Given the description of an element on the screen output the (x, y) to click on. 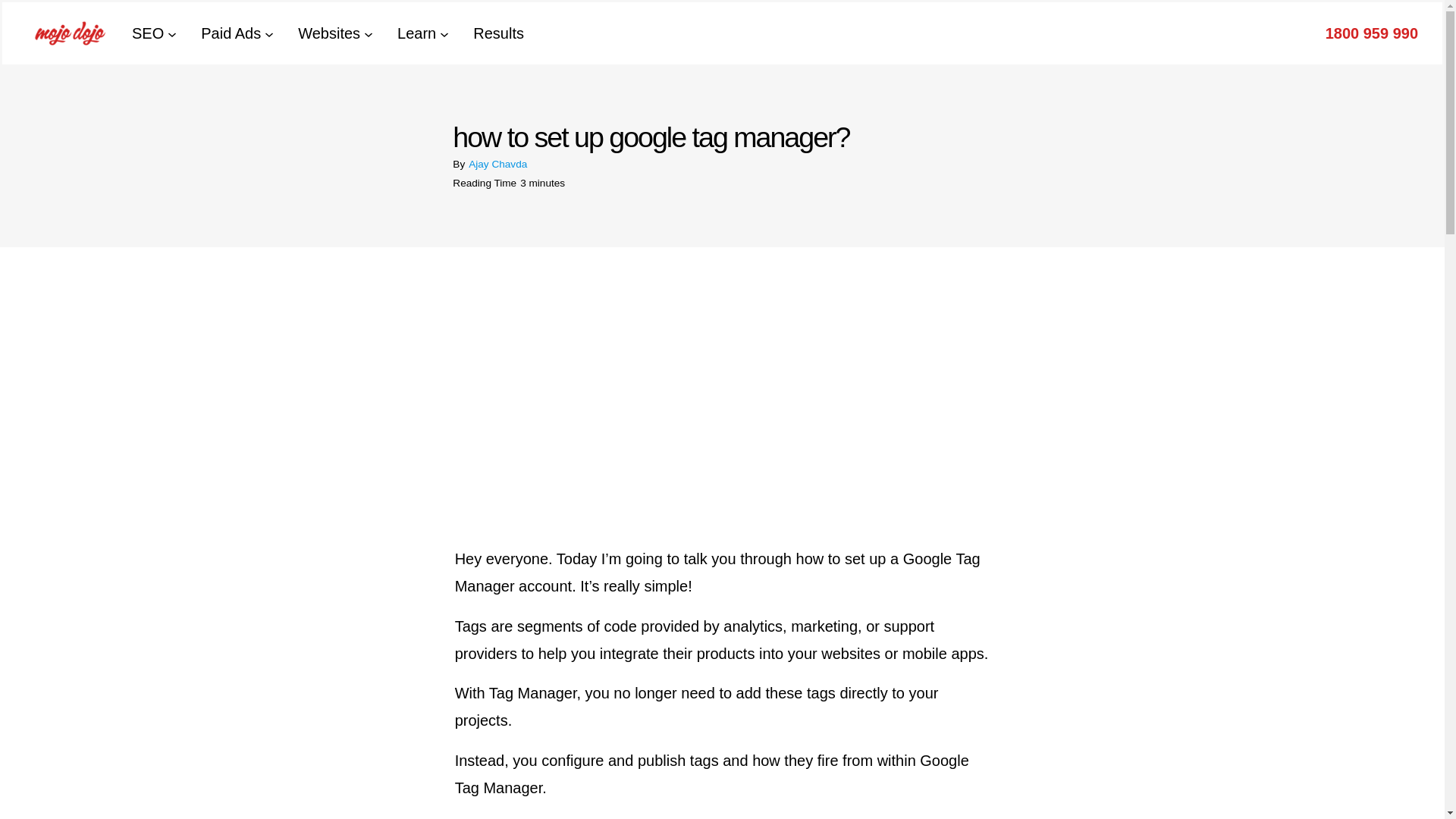
Paid Ads (230, 32)
Ajay Chavda (497, 163)
1800 959 990 (1371, 33)
How to set up Google Tag Manger and Install on WordPress (644, 377)
Learn (416, 32)
SEO (147, 32)
Websites (328, 32)
Results (498, 32)
